Given the description of an element on the screen output the (x, y) to click on. 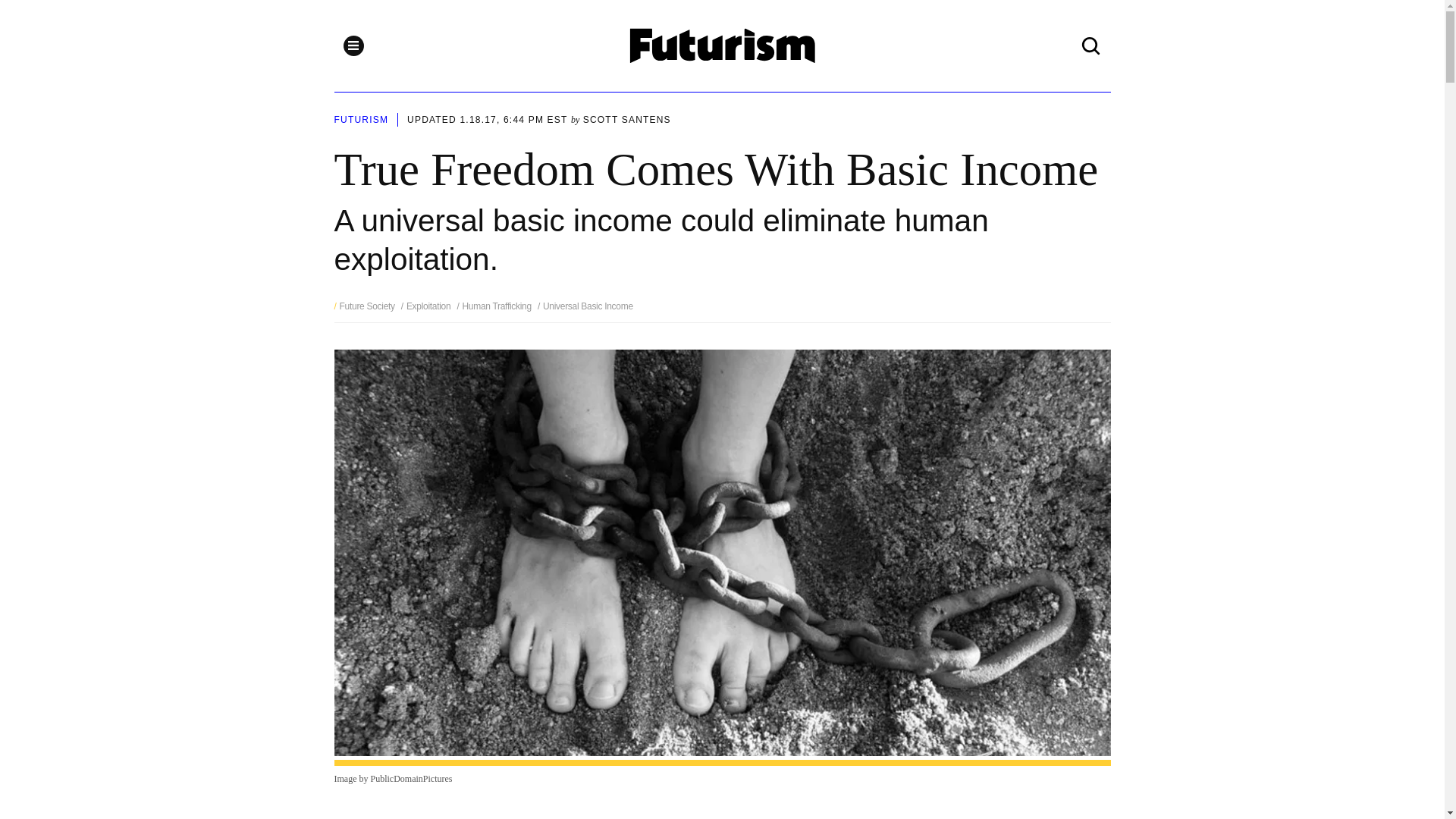
Future Society (366, 306)
Future Society (366, 306)
SCOTT SANTENS (627, 119)
Futurism (722, 45)
universal basic income (585, 306)
exploitation (426, 306)
human trafficking (494, 306)
Scott Santens (627, 119)
